Given the description of an element on the screen output the (x, y) to click on. 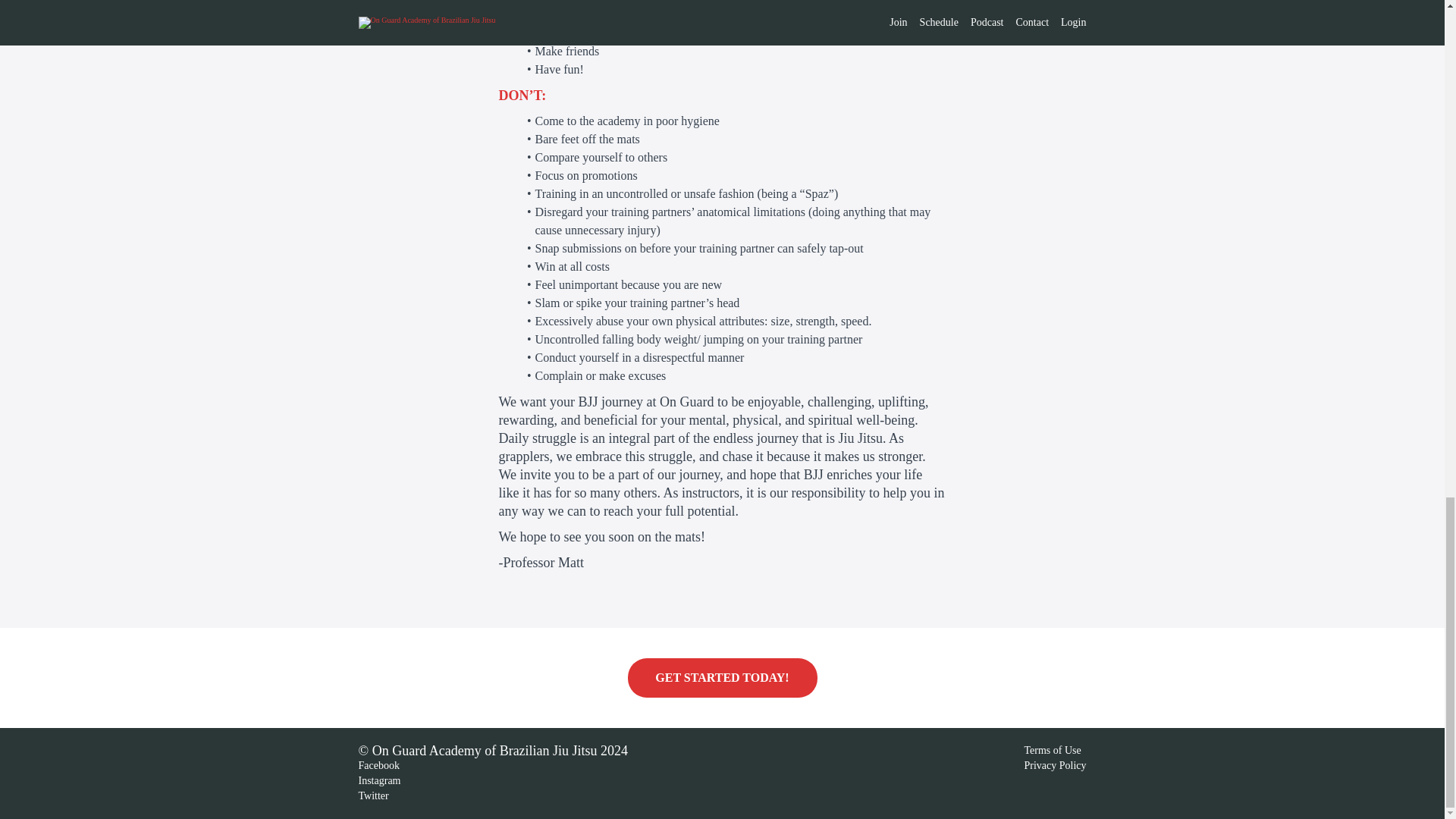
Privacy Policy (1054, 765)
Terms of Use (1051, 749)
GET STARTED TODAY! (721, 677)
Twitter (373, 795)
GET STARTED TODAY! (721, 678)
Instagram (379, 780)
Facebook (378, 765)
